Given the description of an element on the screen output the (x, y) to click on. 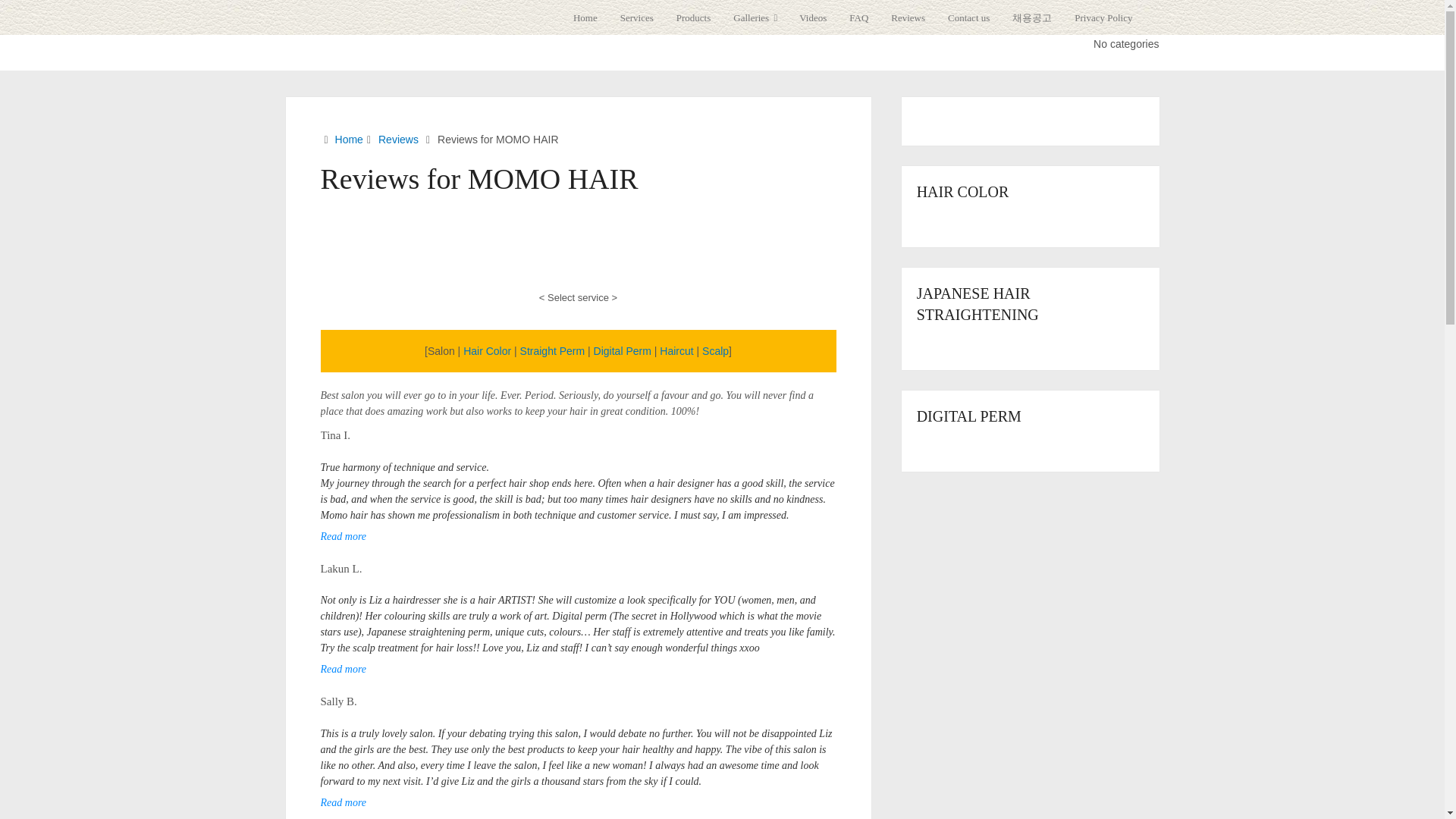
Reviews (907, 17)
Services (636, 17)
Galleries (754, 17)
Products (693, 17)
Home (590, 17)
Contact us (968, 17)
Privacy Policy (1102, 17)
FAQ (858, 17)
Videos (812, 17)
